Given the description of an element on the screen output the (x, y) to click on. 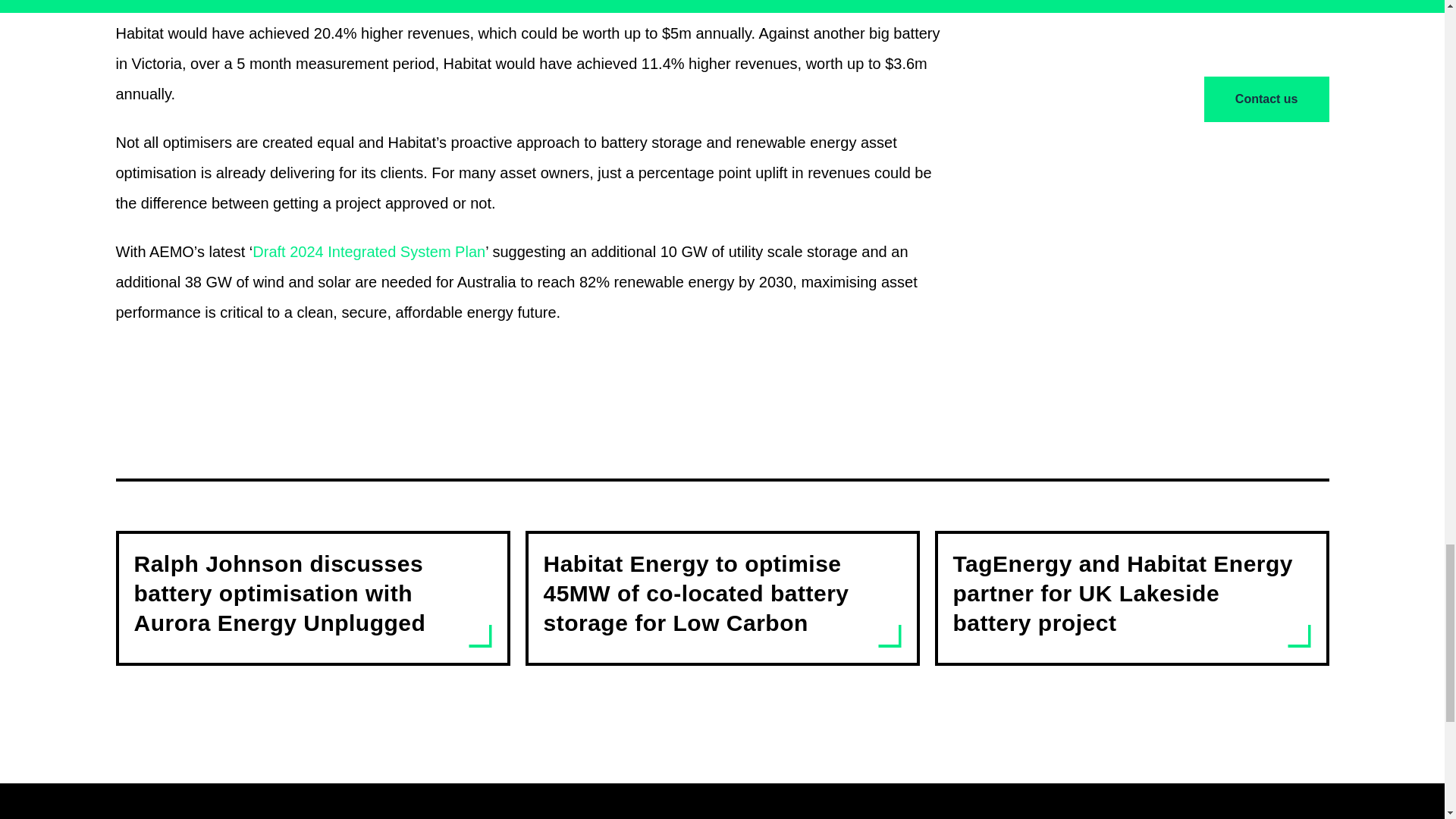
Draft 2024 Integrated System Plan (367, 251)
